Given the description of an element on the screen output the (x, y) to click on. 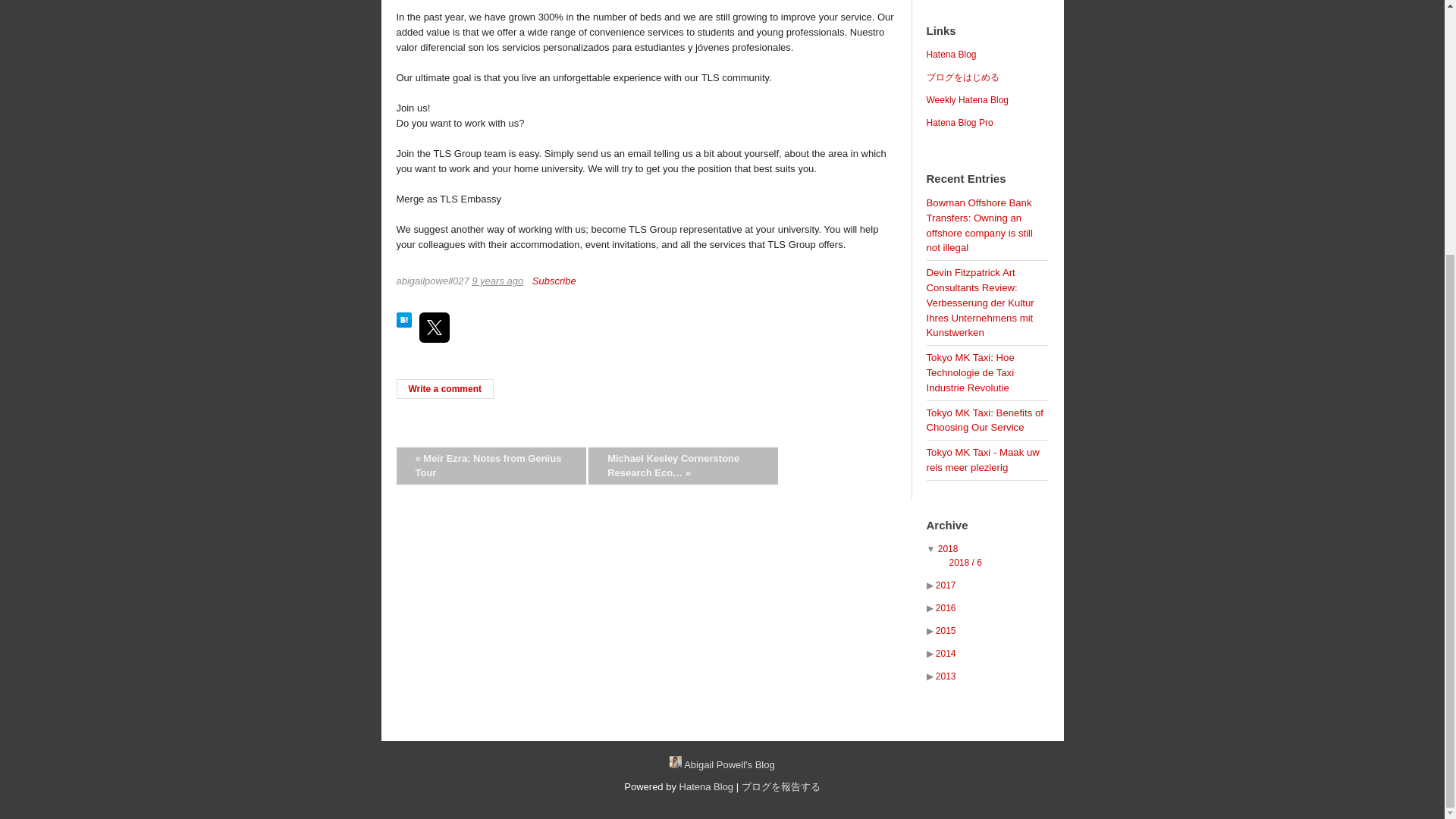
2015-03-28T05:34:49Z (496, 280)
Archive (947, 525)
Subscribe (554, 280)
Tokyo MK Taxi: Benefits of Choosing Our Service (984, 420)
2018 (947, 548)
2017 (946, 584)
Recent Entries (966, 179)
Weekly Hatena Blog (967, 100)
9 years ago (496, 280)
